Given the description of an element on the screen output the (x, y) to click on. 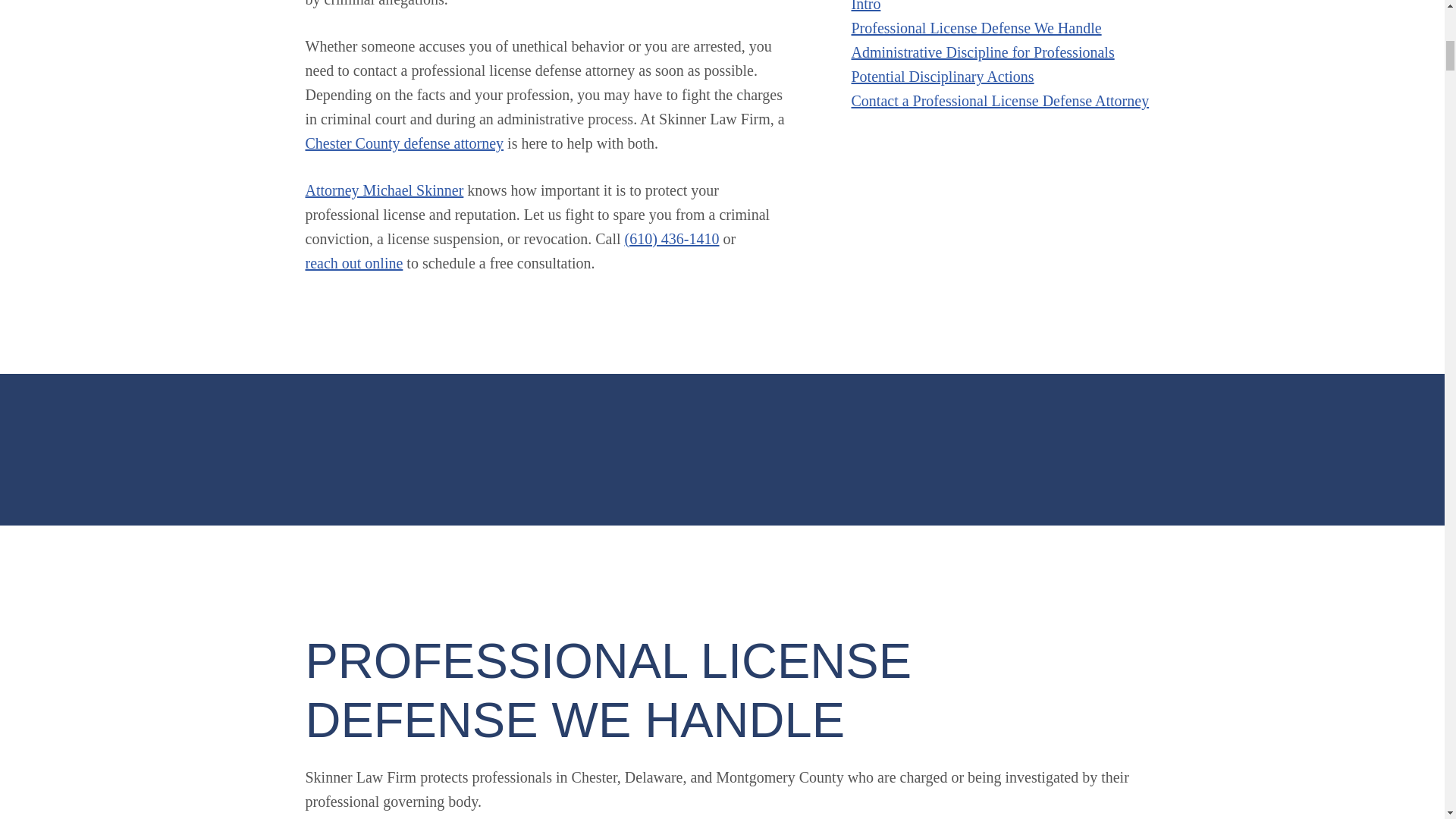
Contact a Professional License Defense Attorney (999, 100)
intro (865, 7)
Potential Disciplinary Actions (941, 76)
Attorney Michael Skinner (383, 190)
Intro (865, 7)
Chester County Defense Attorney (403, 143)
reach out online (353, 262)
Contact Skinner Law Firm - Today (353, 262)
Chester County defense attorney (403, 143)
Attorney Michael Skinner (383, 190)
